Given the description of an element on the screen output the (x, y) to click on. 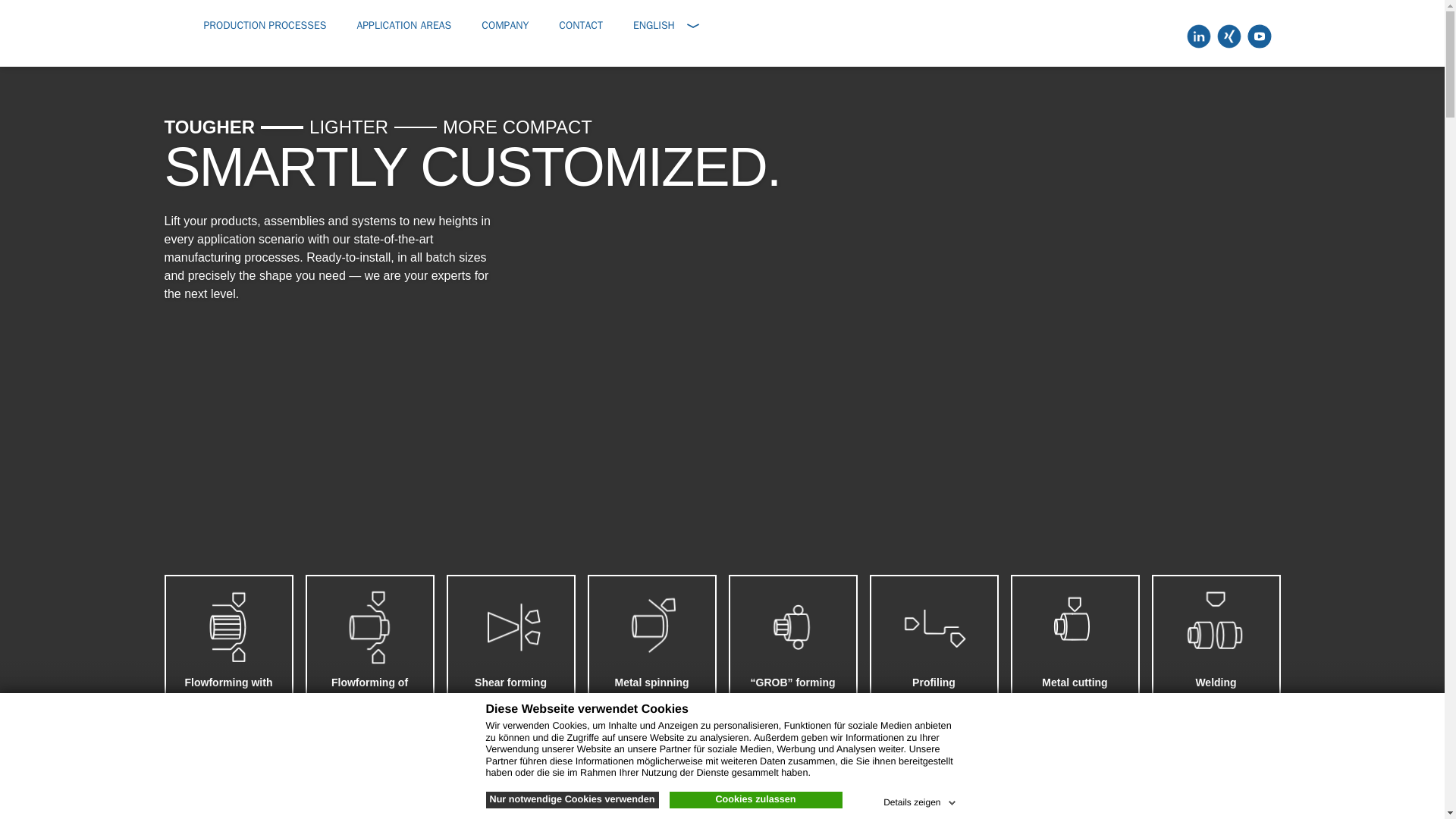
Nur notwendige Cookies verwenden (571, 799)
PRODUCTION PROCESSES (264, 24)
THE BENEFITS FOR YOU (721, 768)
Details zeigen (920, 799)
Cookies zulassen (754, 799)
